Given the description of an element on the screen output the (x, y) to click on. 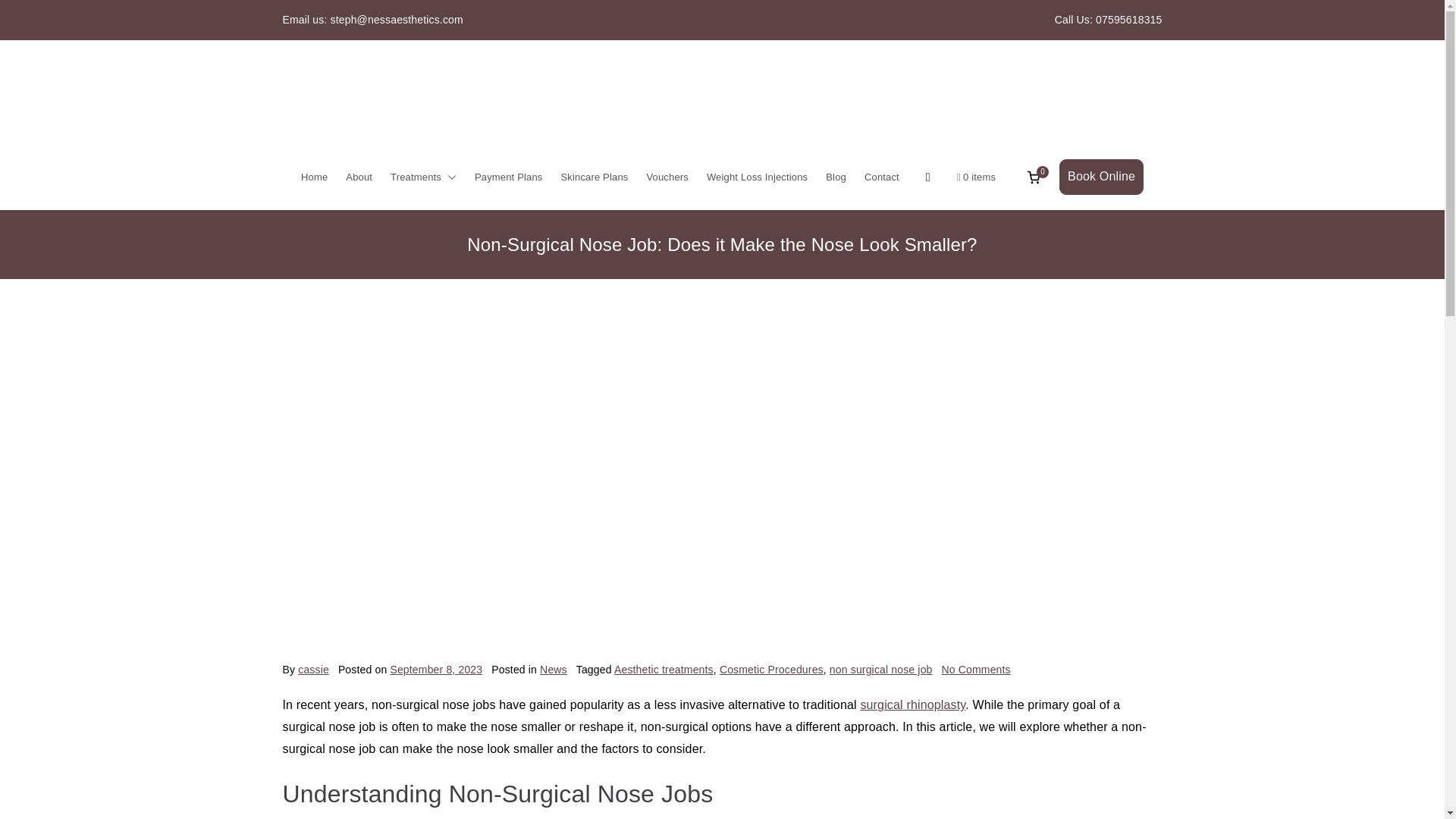
Vouchers (666, 176)
View your shopping basket (1033, 177)
Ness Aesthetics (839, 163)
Call Us: 07595618315 (1107, 19)
About (359, 176)
Payment Plans (508, 176)
Weight Loss Injections (757, 176)
Book Online (1100, 176)
Treatments (423, 176)
0 (1033, 177)
